Given the description of an element on the screen output the (x, y) to click on. 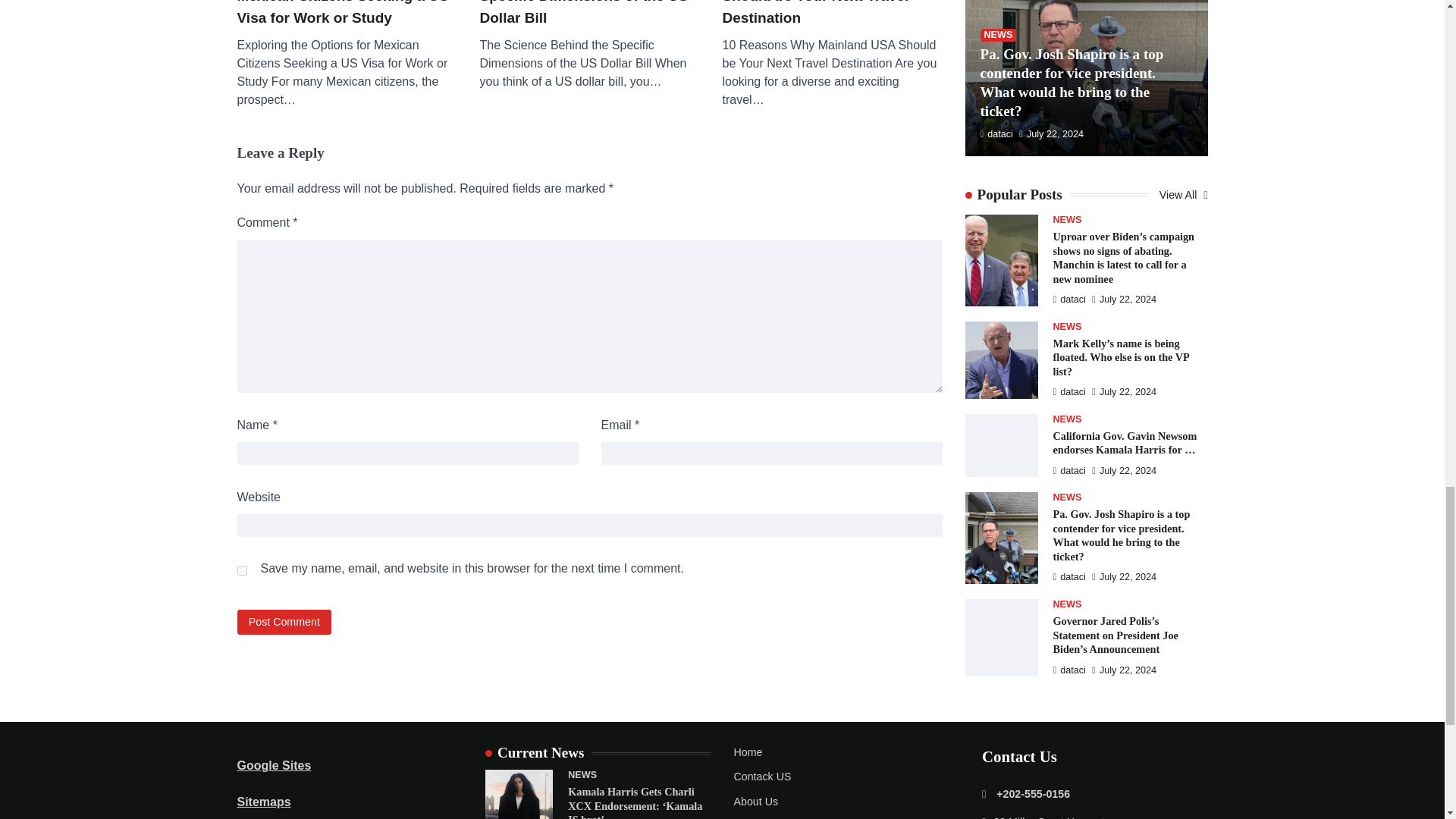
Post Comment (283, 621)
yes (240, 570)
Post Comment (283, 621)
